Given the description of an element on the screen output the (x, y) to click on. 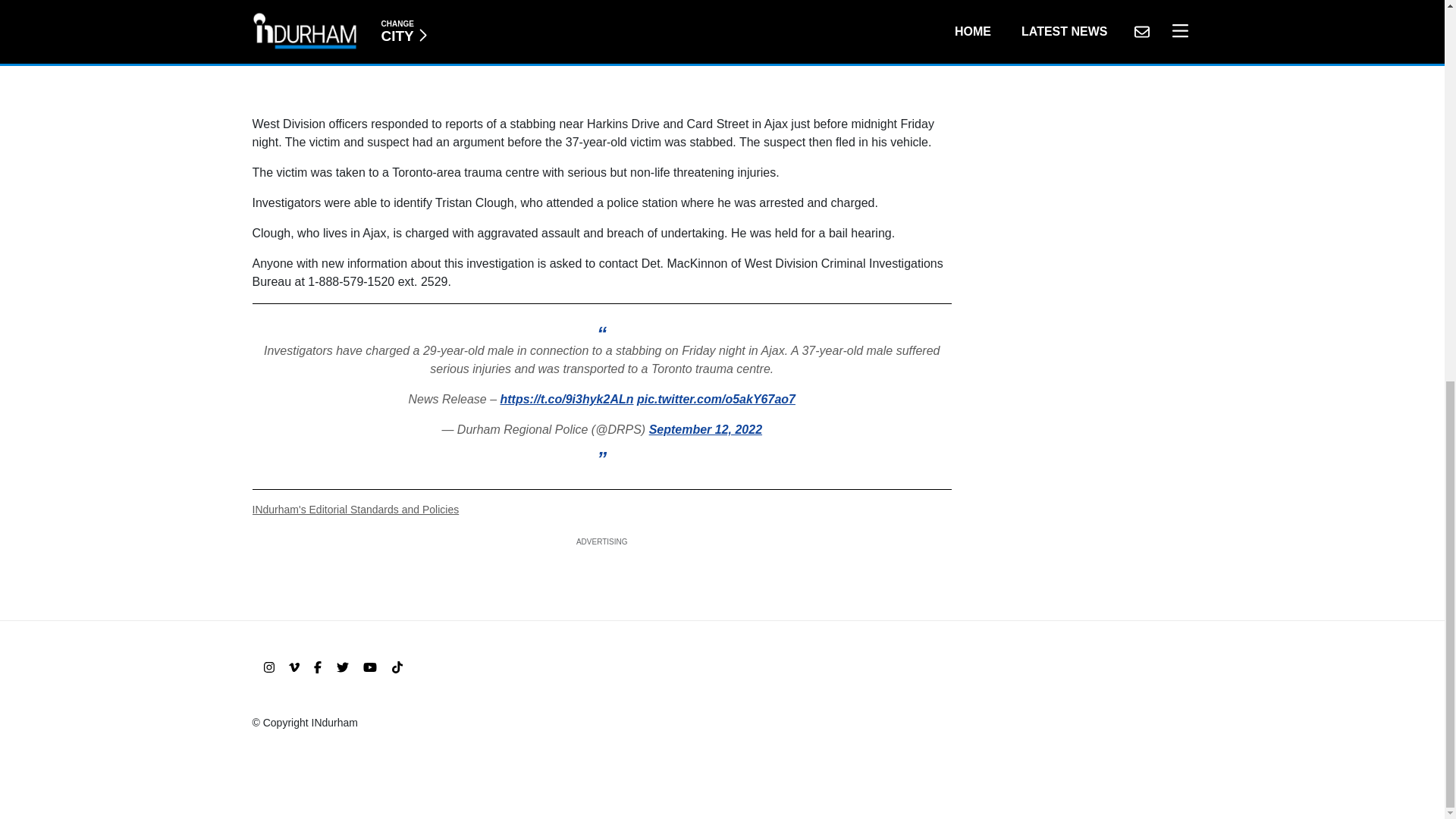
3rd party ad content (601, 49)
